Given the description of an element on the screen output the (x, y) to click on. 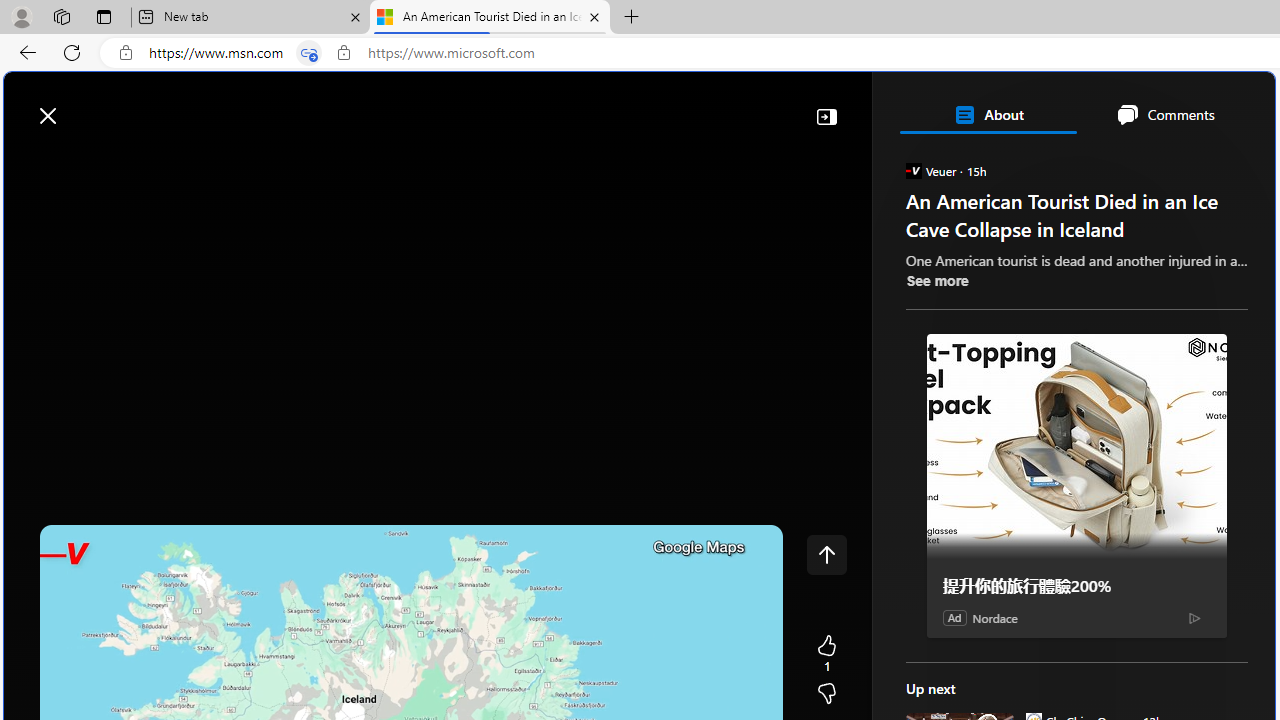
The Associated Press (974, 645)
Personalize (1195, 162)
Open navigation menu (29, 162)
Web search (283, 105)
